Given the description of an element on the screen output the (x, y) to click on. 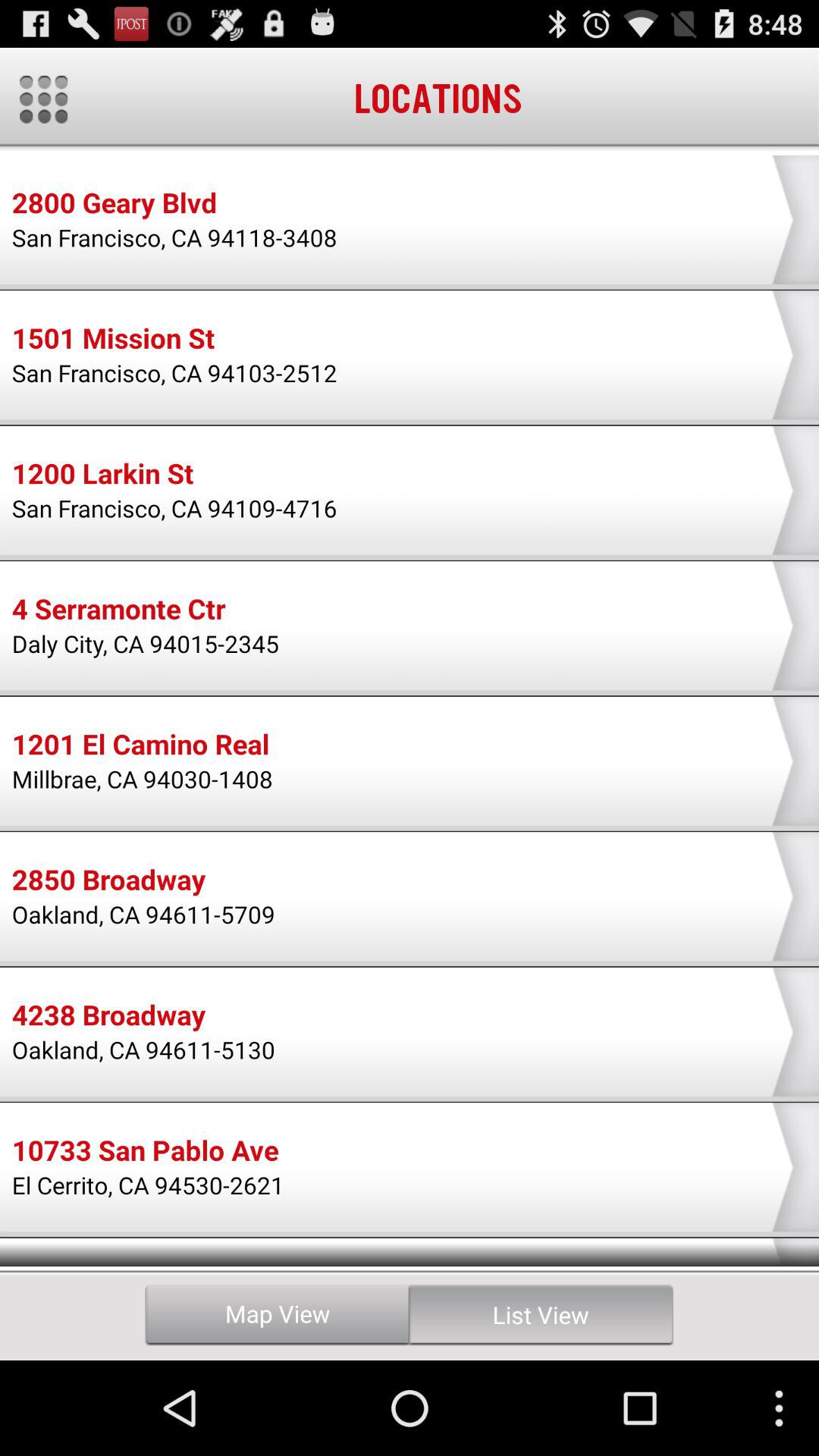
scroll to the list view button (540, 1314)
